Given the description of an element on the screen output the (x, y) to click on. 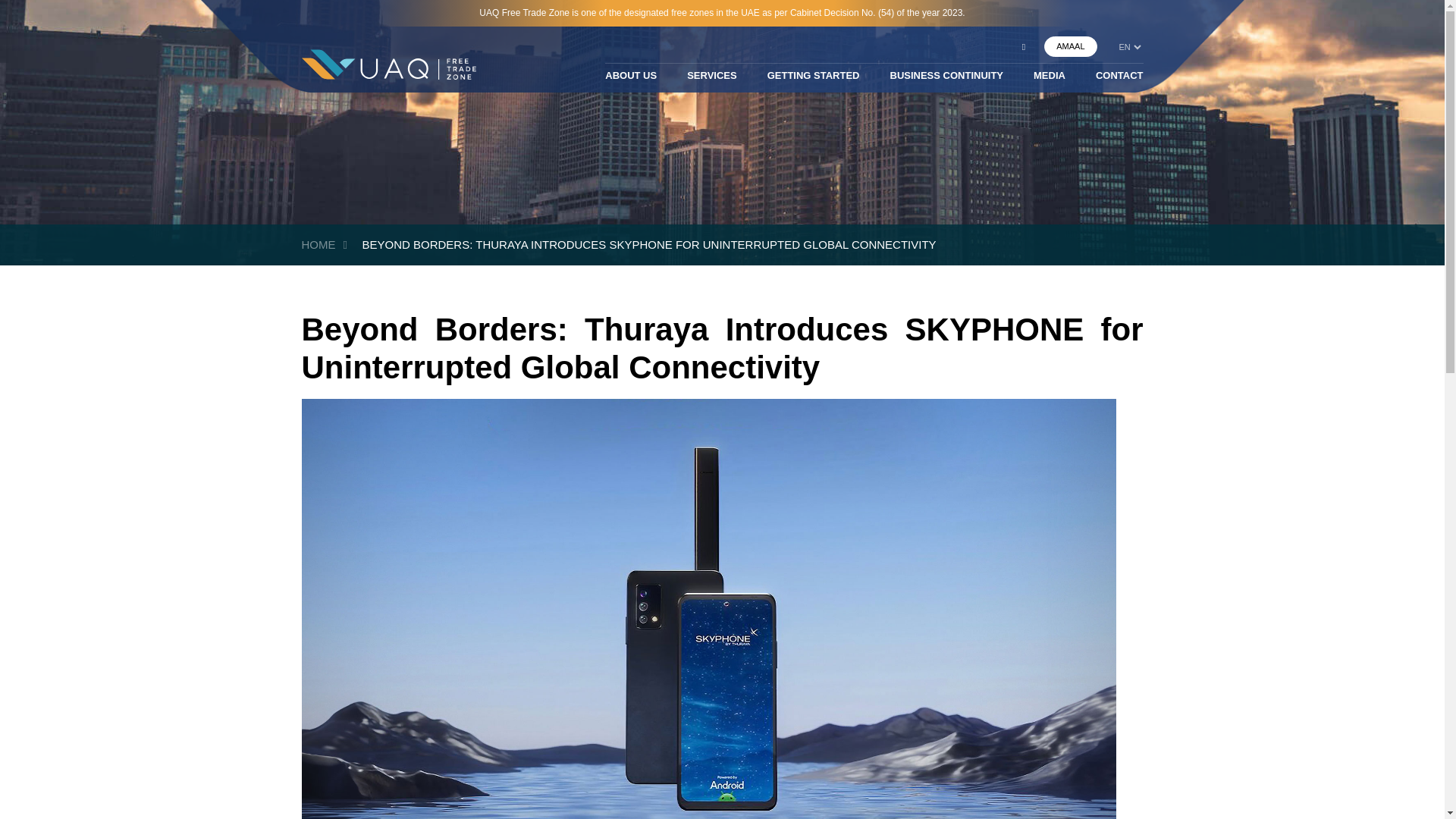
SERVICES (711, 79)
GETTING STARTED (813, 79)
MEDIA (1049, 79)
AMAAL (1069, 46)
BUSINESS CONTINUITY (946, 79)
ABOUT US (630, 79)
CONTACT (1119, 79)
HOME (318, 244)
